Given the description of an element on the screen output the (x, y) to click on. 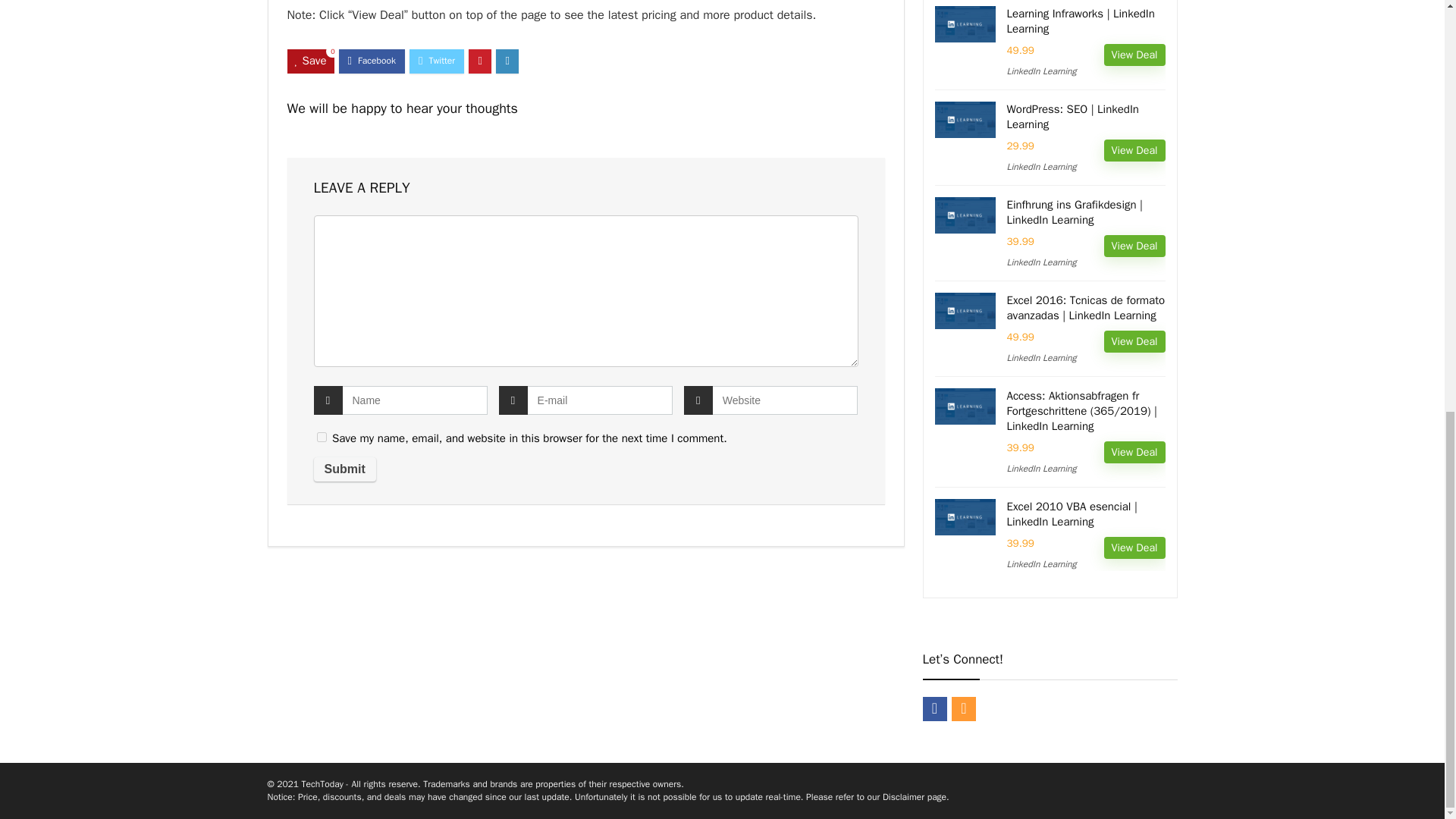
yes (321, 437)
View Deal (1134, 55)
LinkedIn Learning (1042, 70)
Submit (344, 469)
Submit (344, 469)
